Given the description of an element on the screen output the (x, y) to click on. 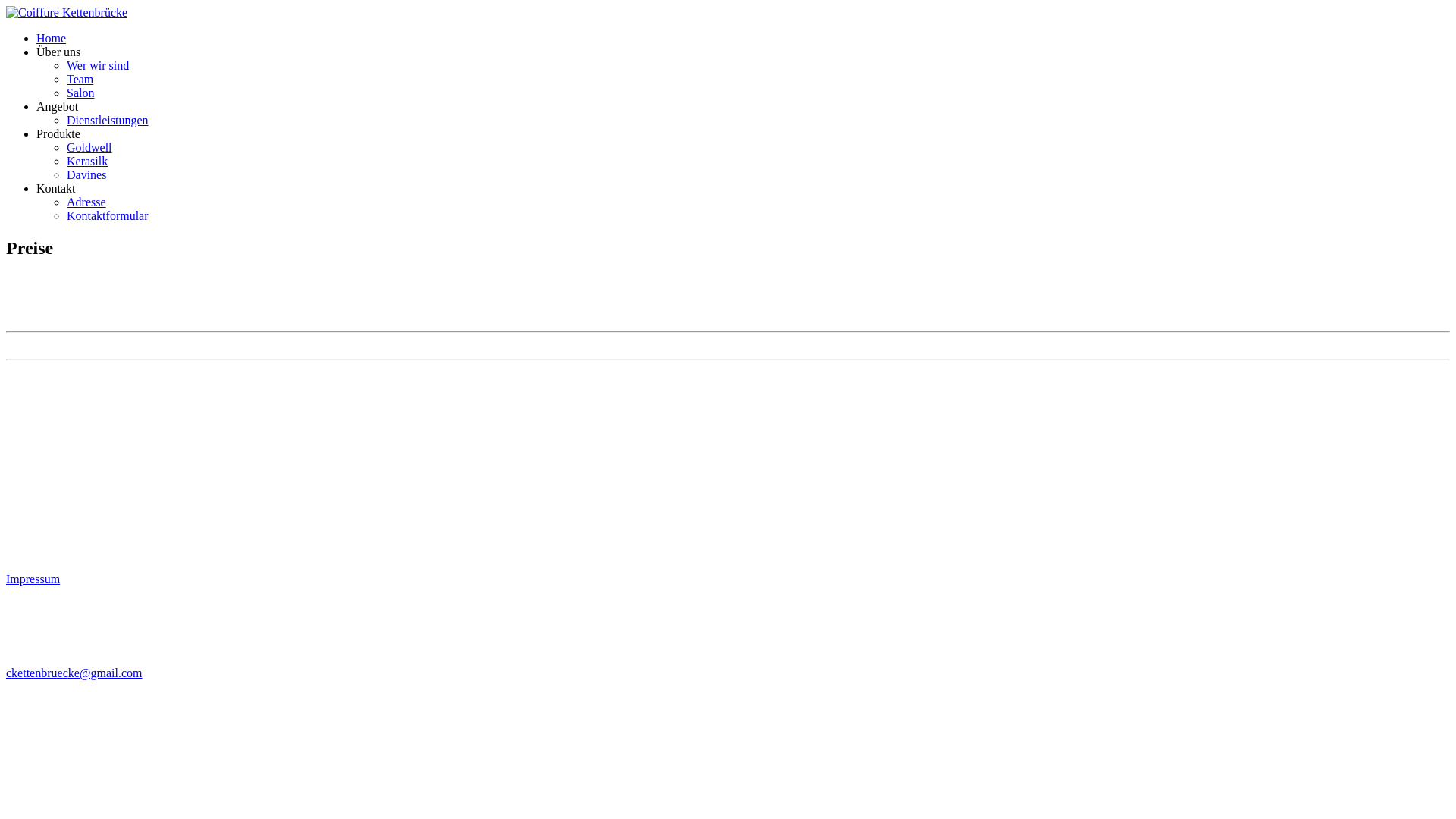
Kerasilk Element type: text (86, 160)
Adresse Element type: text (86, 201)
kettenbruecke@gmail Element type: text (64, 672)
Goldwell Element type: text (89, 147)
Impressum Element type: text (32, 578)
Wer wir sind Element type: text (97, 65)
c Element type: text (8, 672)
Dienstleistungen Element type: text (107, 119)
Davines Element type: text (86, 174)
Salon Element type: text (80, 92)
Kontaktformular Element type: text (107, 215)
Team Element type: text (79, 78)
.com Element type: text (130, 672)
Home Element type: text (50, 37)
